Given the description of an element on the screen output the (x, y) to click on. 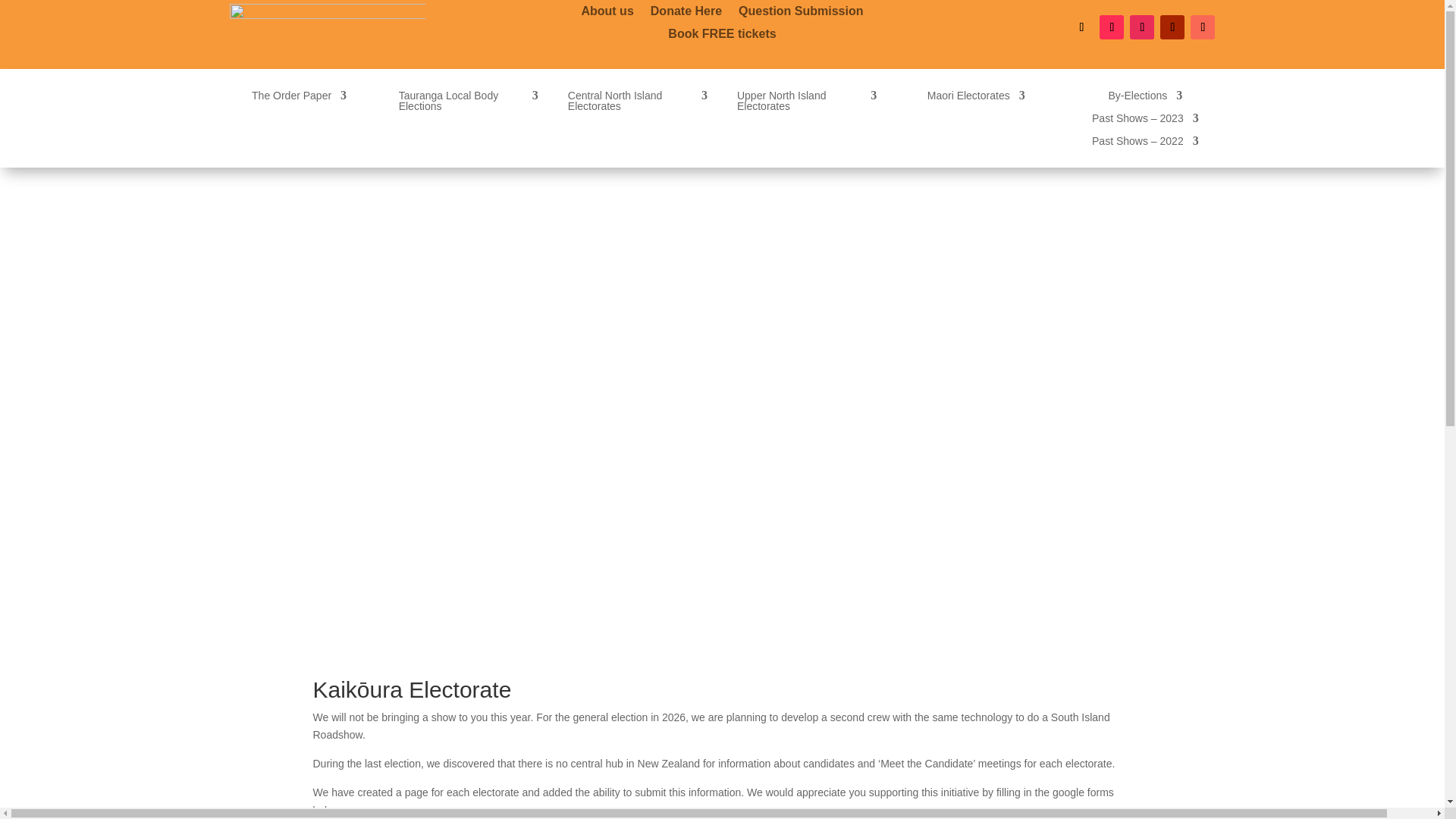
Follow on Instagram (1141, 27)
About us (606, 13)
logo-intb (326, 34)
Central North Island Electorates (637, 103)
Question Submission (800, 13)
Tauranga Local Body Elections (468, 103)
Follow on Patreon (1202, 27)
Donate Here (686, 13)
Follow on TikTok (1111, 27)
Follow on Facebook (1080, 27)
Book FREE tickets (722, 36)
The Order Paper (298, 98)
Follow on Youtube (1172, 27)
Upper North Island Electorates (806, 103)
